Given the description of an element on the screen output the (x, y) to click on. 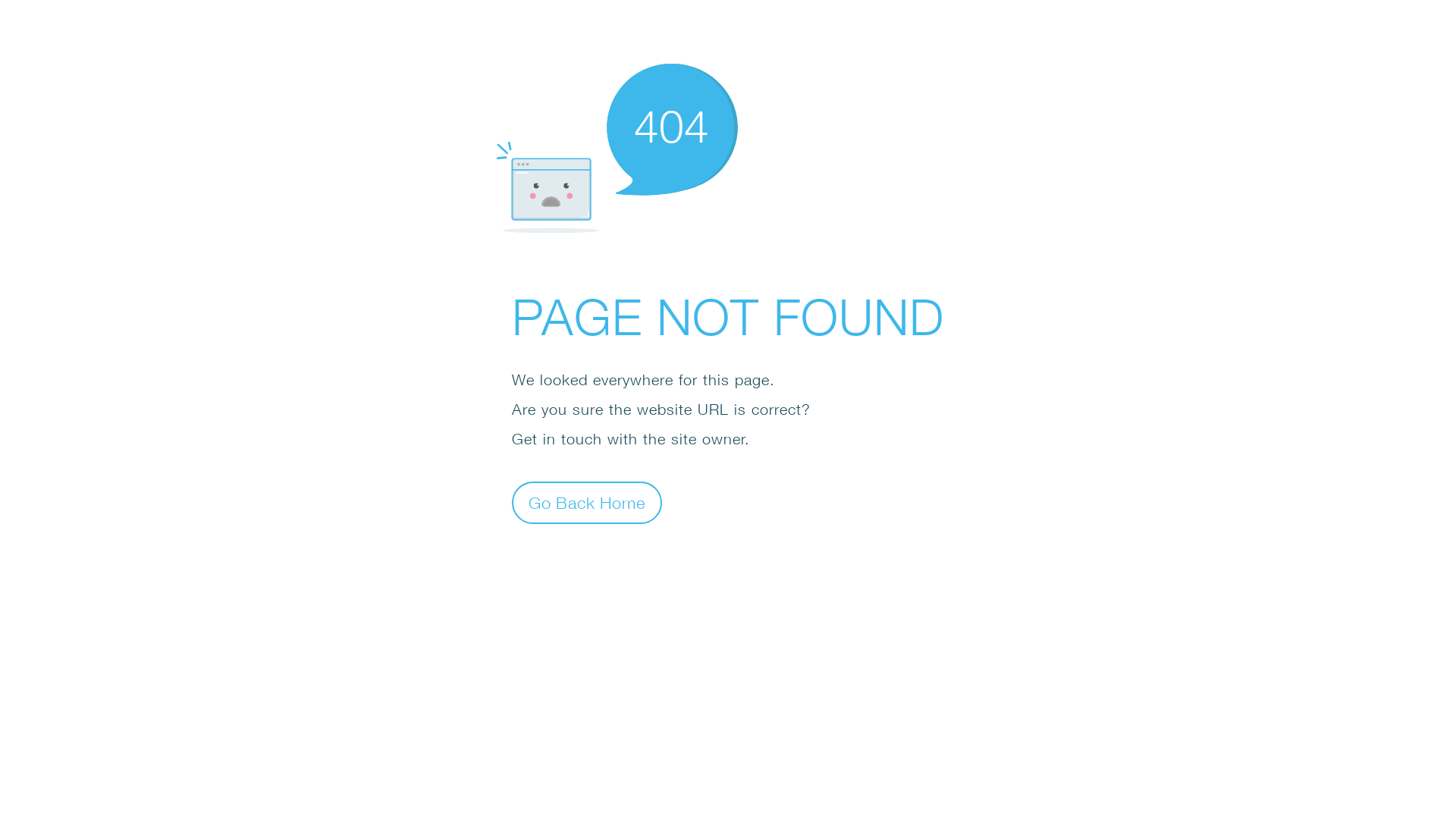
Go Back Home Element type: text (586, 502)
